Given the description of an element on the screen output the (x, y) to click on. 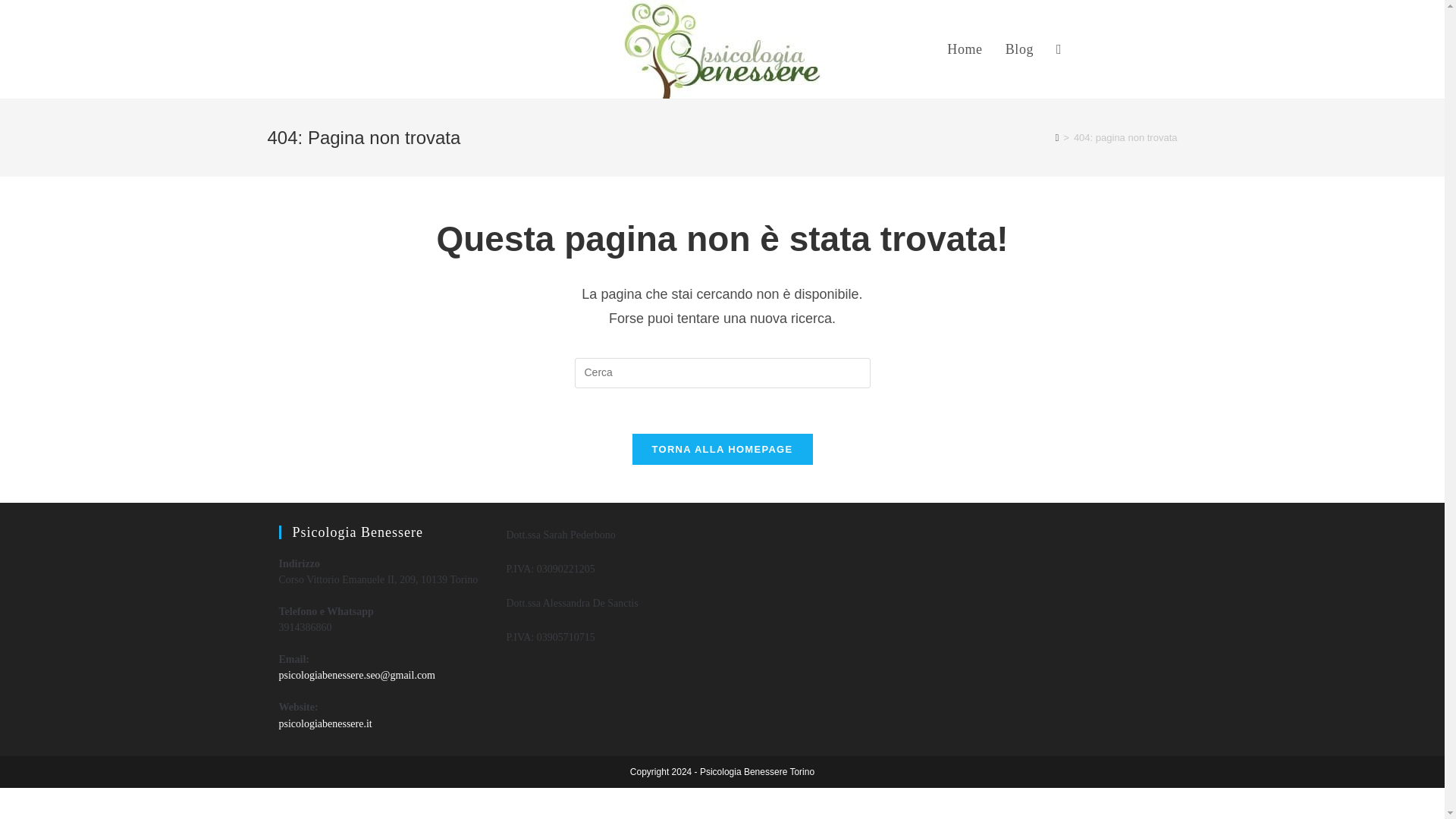
Home (964, 48)
TORNA ALLA HOMEPAGE (721, 449)
psicologiabenessere.it (325, 723)
Blog (1019, 48)
